Given the description of an element on the screen output the (x, y) to click on. 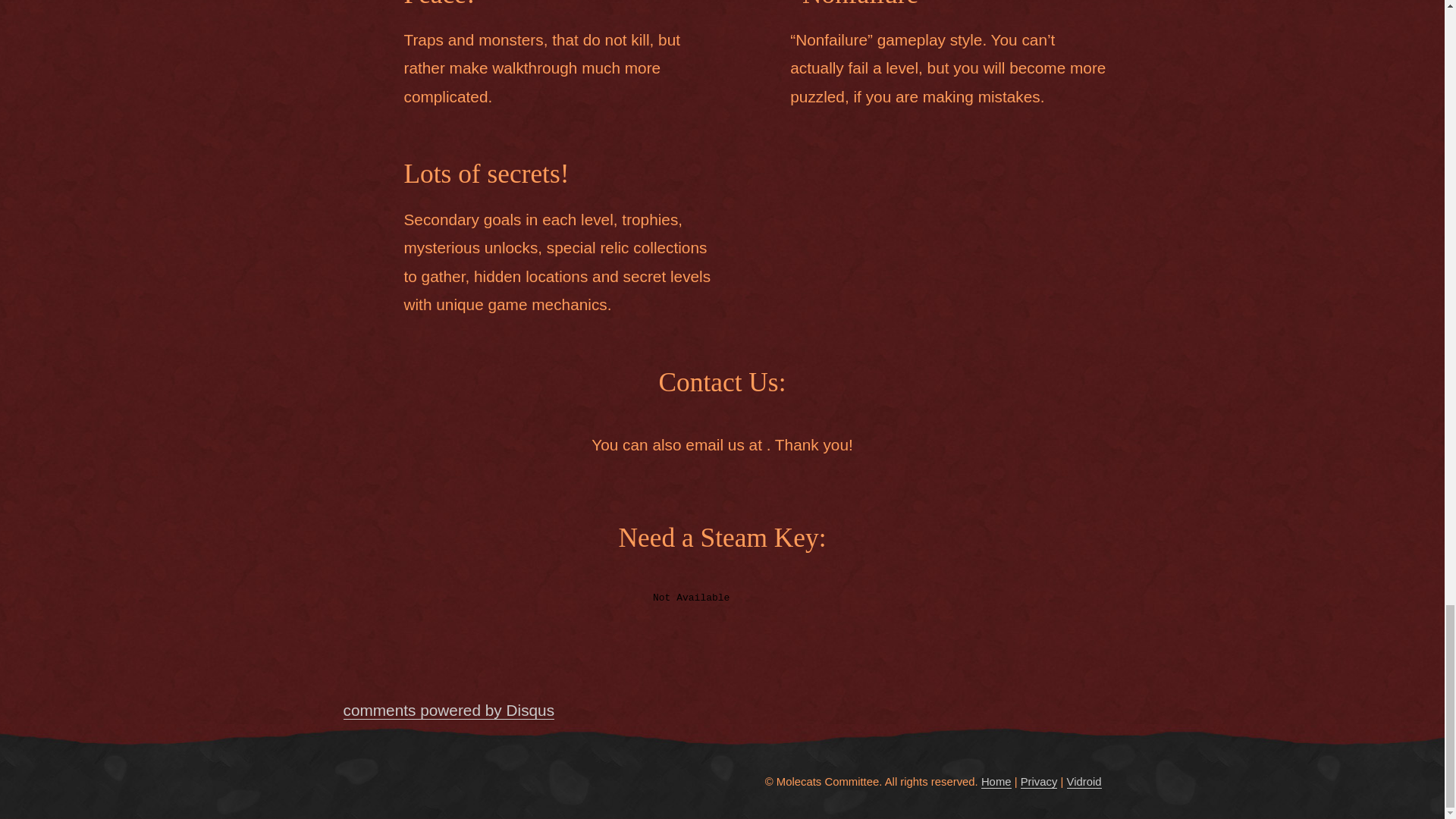
Home (996, 781)
Vidroid (1082, 781)
Privacy (1039, 781)
Privacy (1039, 781)
Home (996, 781)
Vidroid (1082, 781)
comments powered by Disqus (448, 710)
